Given the description of an element on the screen output the (x, y) to click on. 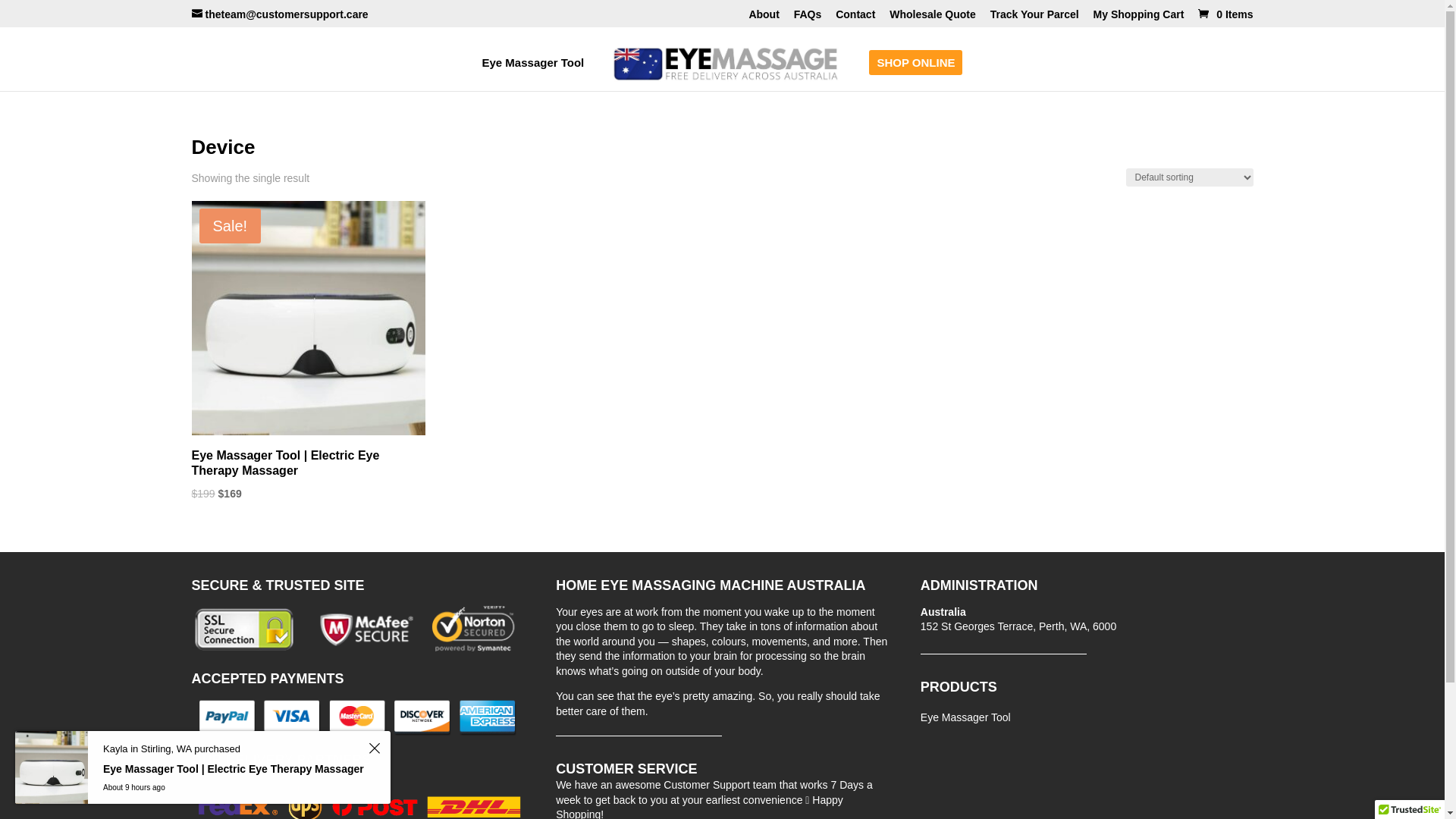
Australia Element type: text (943, 611)
Eye Massager Tool | Electric Eye Therapy Massager Element type: text (233, 773)
Wholesale Quote Element type: text (932, 18)
Contact Element type: text (855, 18)
0 Items Element type: text (1223, 13)
Eye Massager Tool Element type: text (533, 74)
Track Your Parcel Element type: text (1034, 18)
FAQs Element type: text (807, 18)
My Shopping Cart Element type: text (1138, 18)
best-products-online Element type: hover (357, 717)
SHOP ONLINE Element type: text (915, 74)
Eye Massager Tool Element type: text (965, 720)
theteam@customersupport.care Element type: text (279, 13)
About Element type: text (763, 18)
best-online-shopping-store-for-products Element type: hover (357, 630)
